Given the description of an element on the screen output the (x, y) to click on. 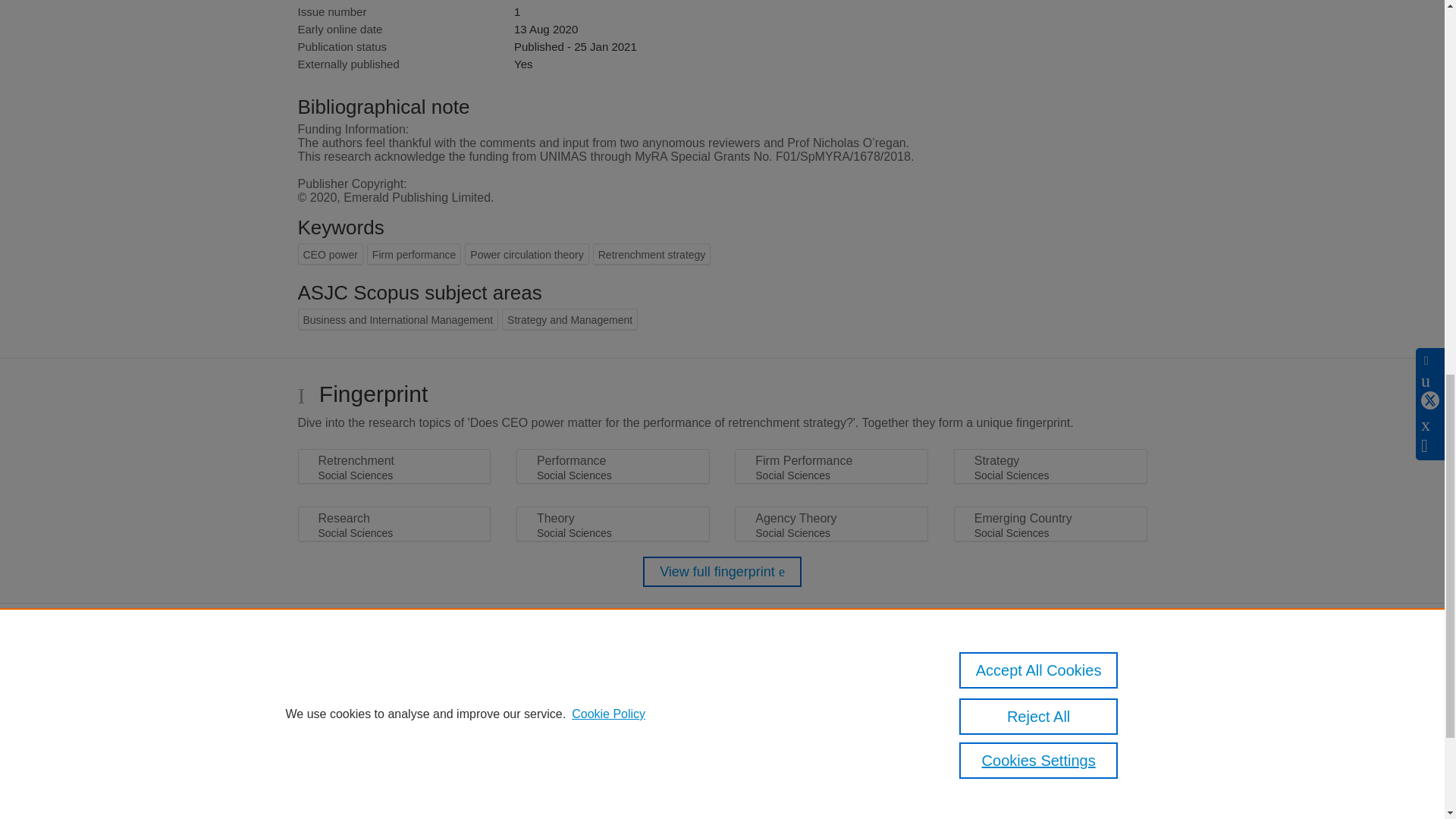
View full fingerprint (722, 571)
